Given the description of an element on the screen output the (x, y) to click on. 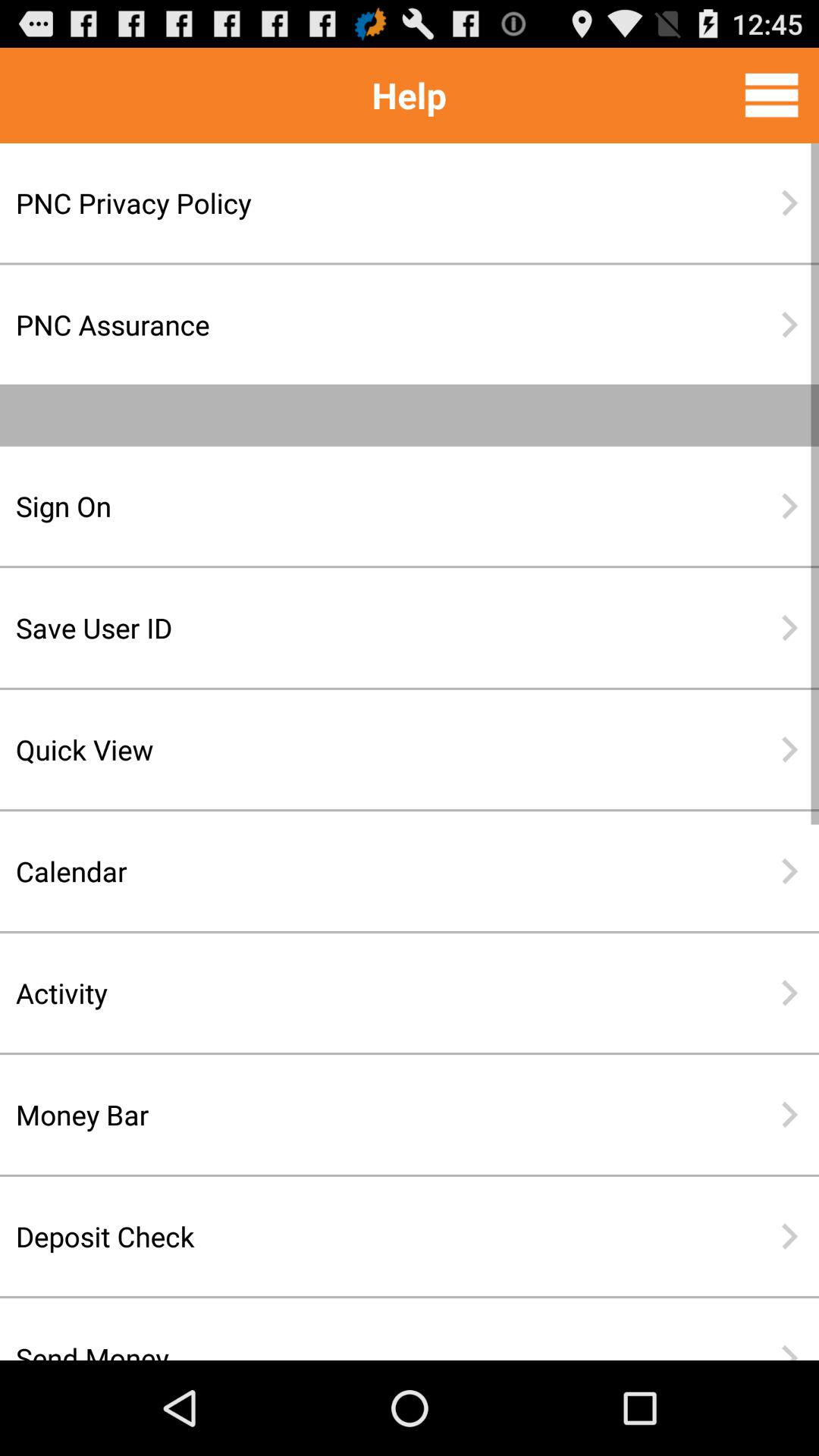
jump to the send money icon (359, 1337)
